Given the description of an element on the screen output the (x, y) to click on. 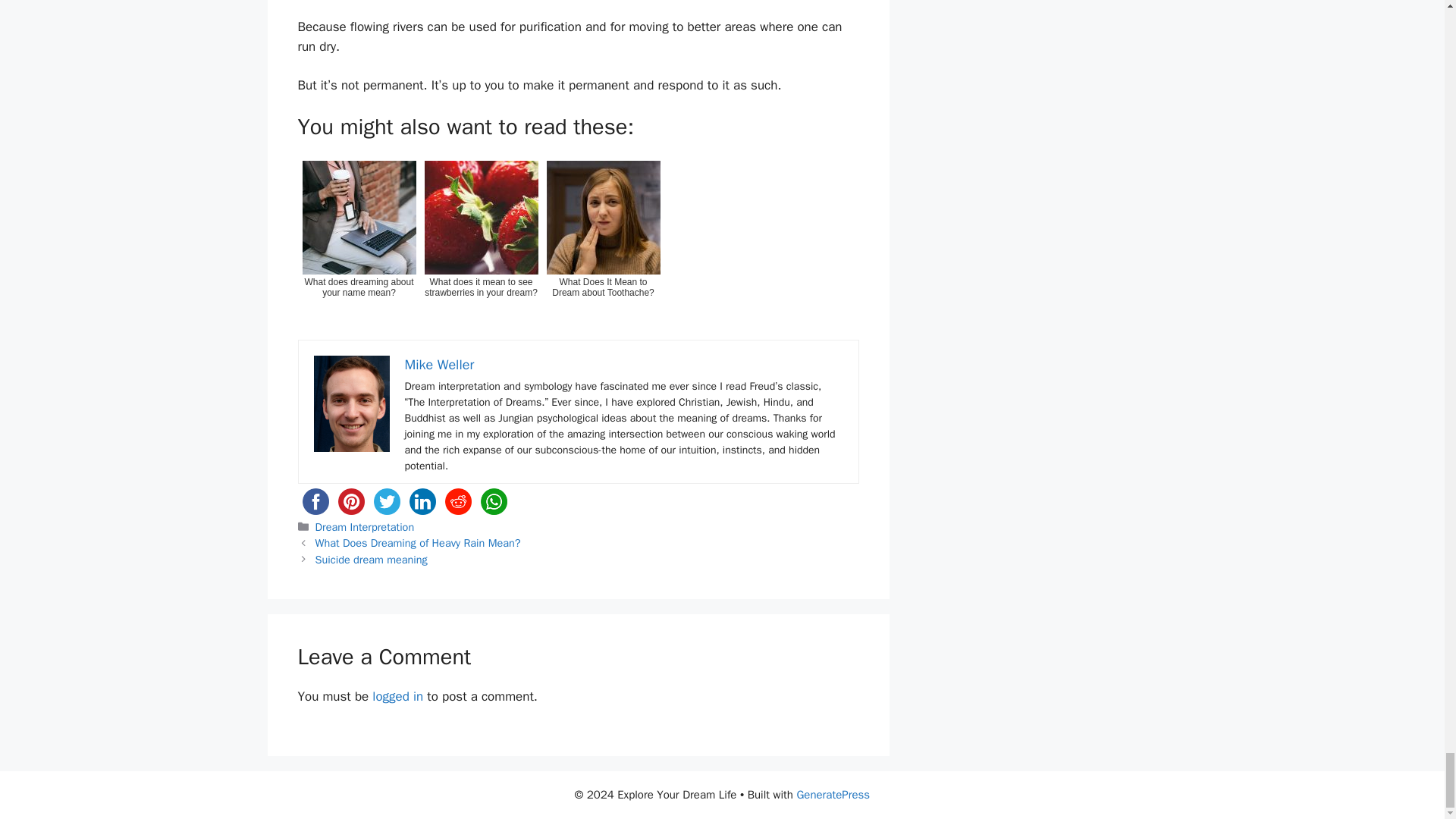
twitter (386, 501)
facebook (315, 501)
pinterest (351, 501)
Mike Weller (439, 364)
